Given the description of an element on the screen output the (x, y) to click on. 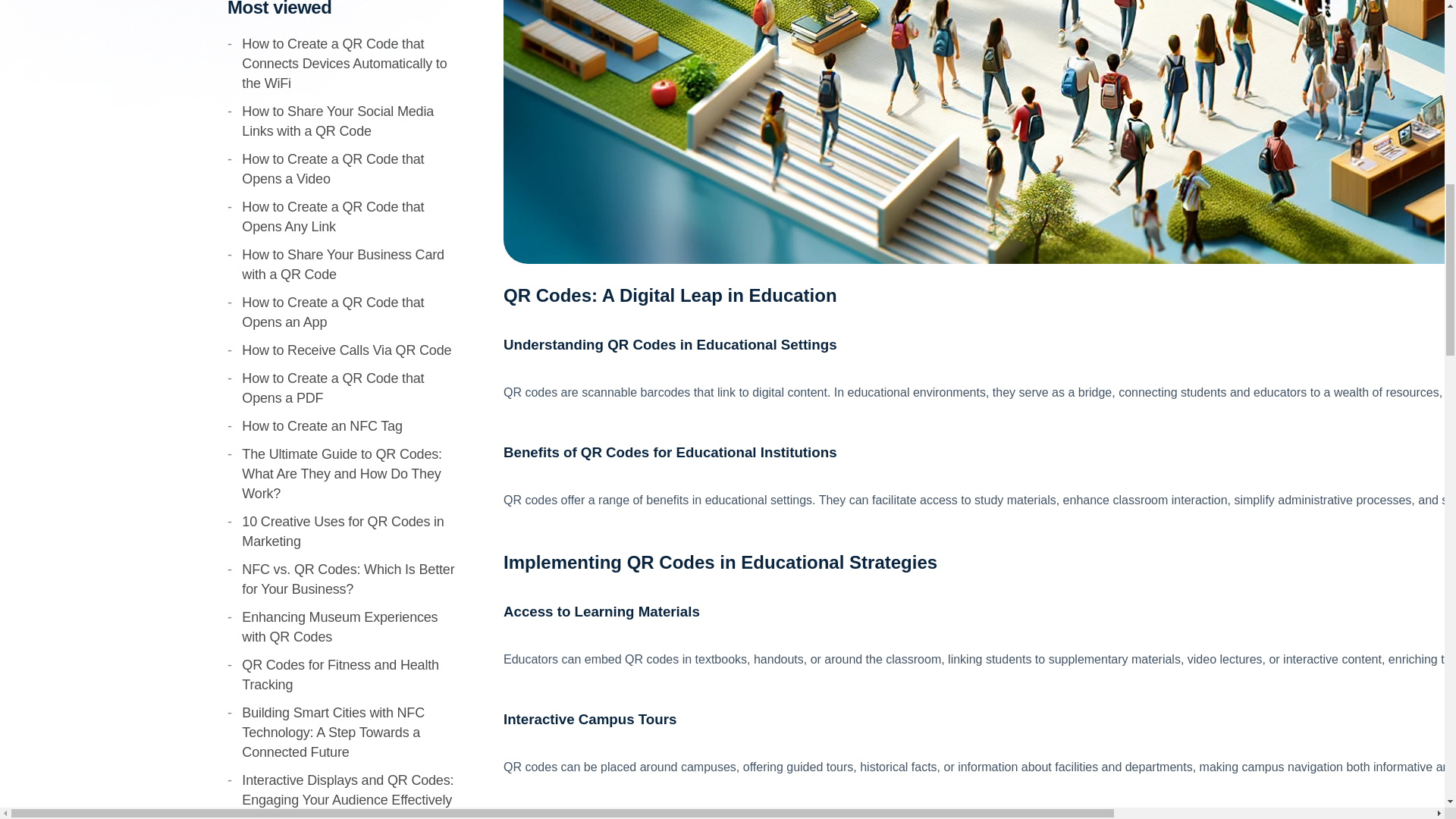
How to Create an NFC Tag (321, 426)
How to Receive Calls Via QR Code (346, 350)
How to Create a QR Code that Opens a Video (332, 168)
How to Share Your Business Card with a QR Code (342, 264)
QR Codes for Fitness and Health Tracking (340, 674)
10 Creative Uses for QR Codes in Marketing (342, 531)
How to Create a QR Code that Opens Any Link (332, 216)
NFC vs. QR Codes: Which Is Better for Your Business? (347, 579)
How to Create a QR Code that Opens an App (332, 312)
How to Share Your Social Media Links with a QR Code (337, 121)
How to Create a QR Code that Opens a PDF (332, 388)
Enhancing Museum Experiences with QR Codes (339, 626)
